Given the description of an element on the screen output the (x, y) to click on. 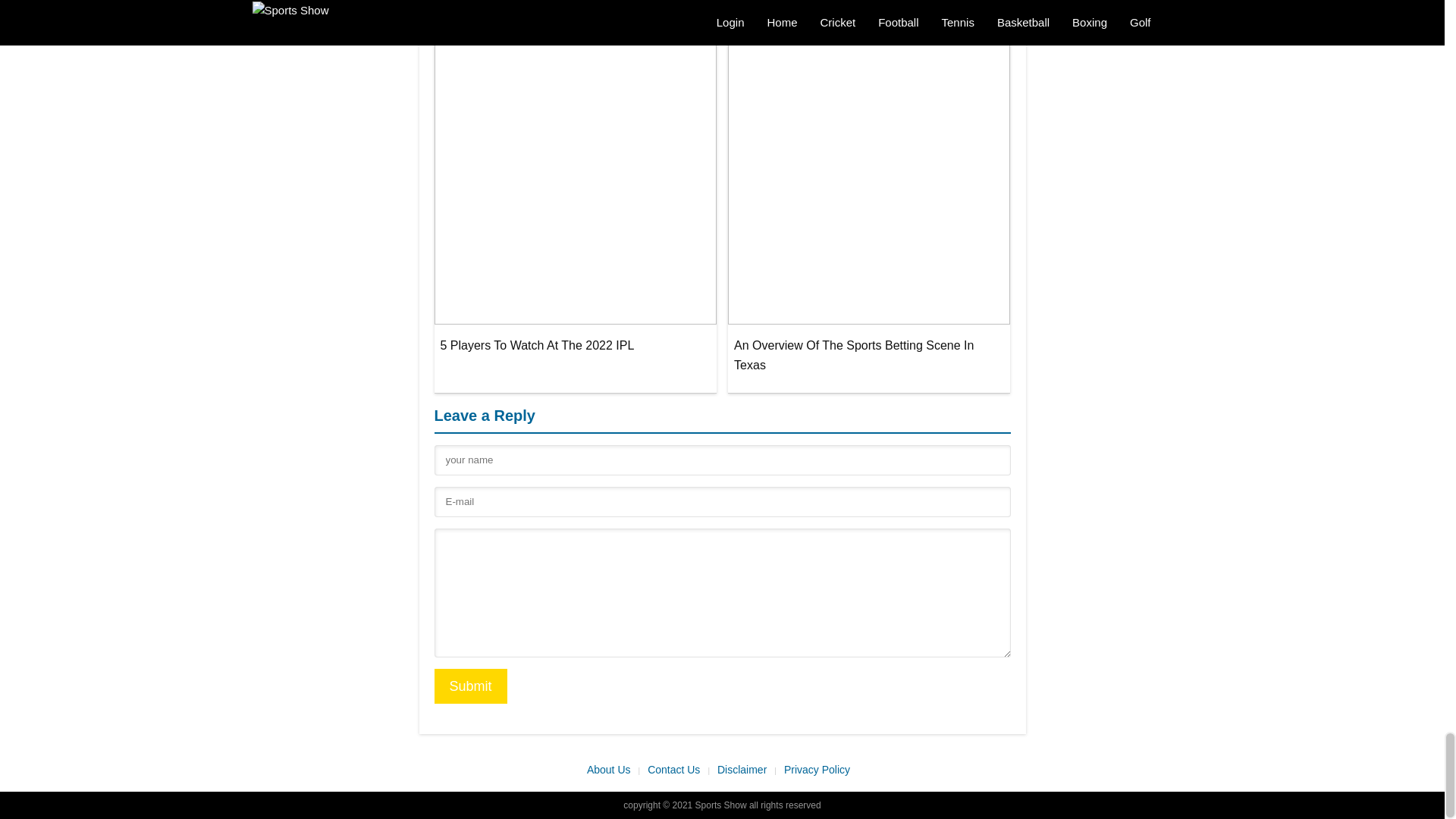
Submit (469, 686)
Disclaimer (746, 770)
Privacy Policy (820, 769)
About Us (613, 770)
Contact Us (678, 770)
